Given the description of an element on the screen output the (x, y) to click on. 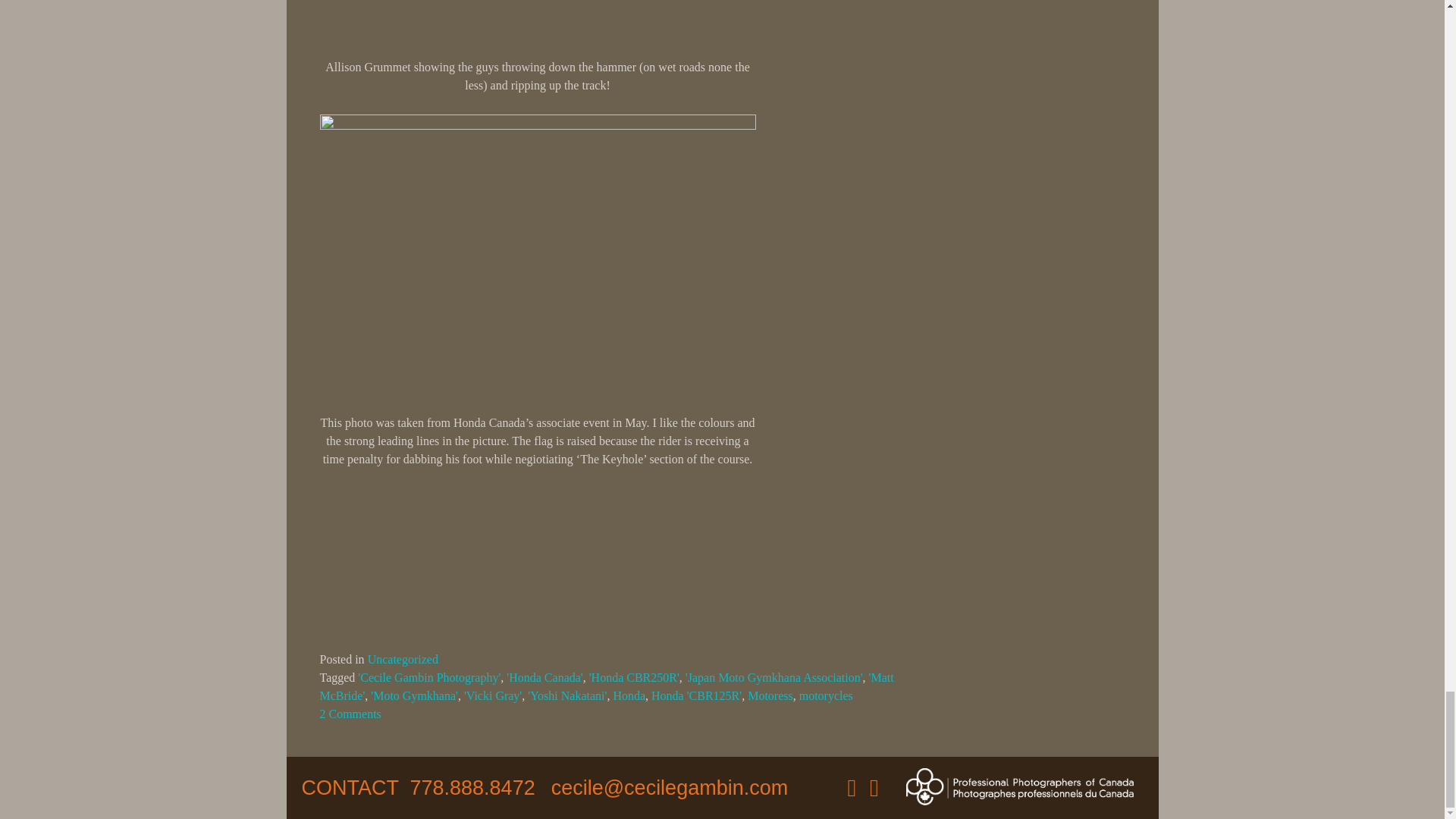
'Moto Gymkhana' (414, 695)
'Japan Moto Gymkhana Association' (774, 676)
motorycles (826, 695)
'Honda Canada' (544, 676)
'Matt McBride' (606, 685)
Honda (628, 695)
'Honda CBR250R' (634, 676)
'Cecile Gambin Photography' (429, 676)
Honda 'CBR125R' (695, 695)
Uncategorized (403, 658)
